Given the description of an element on the screen output the (x, y) to click on. 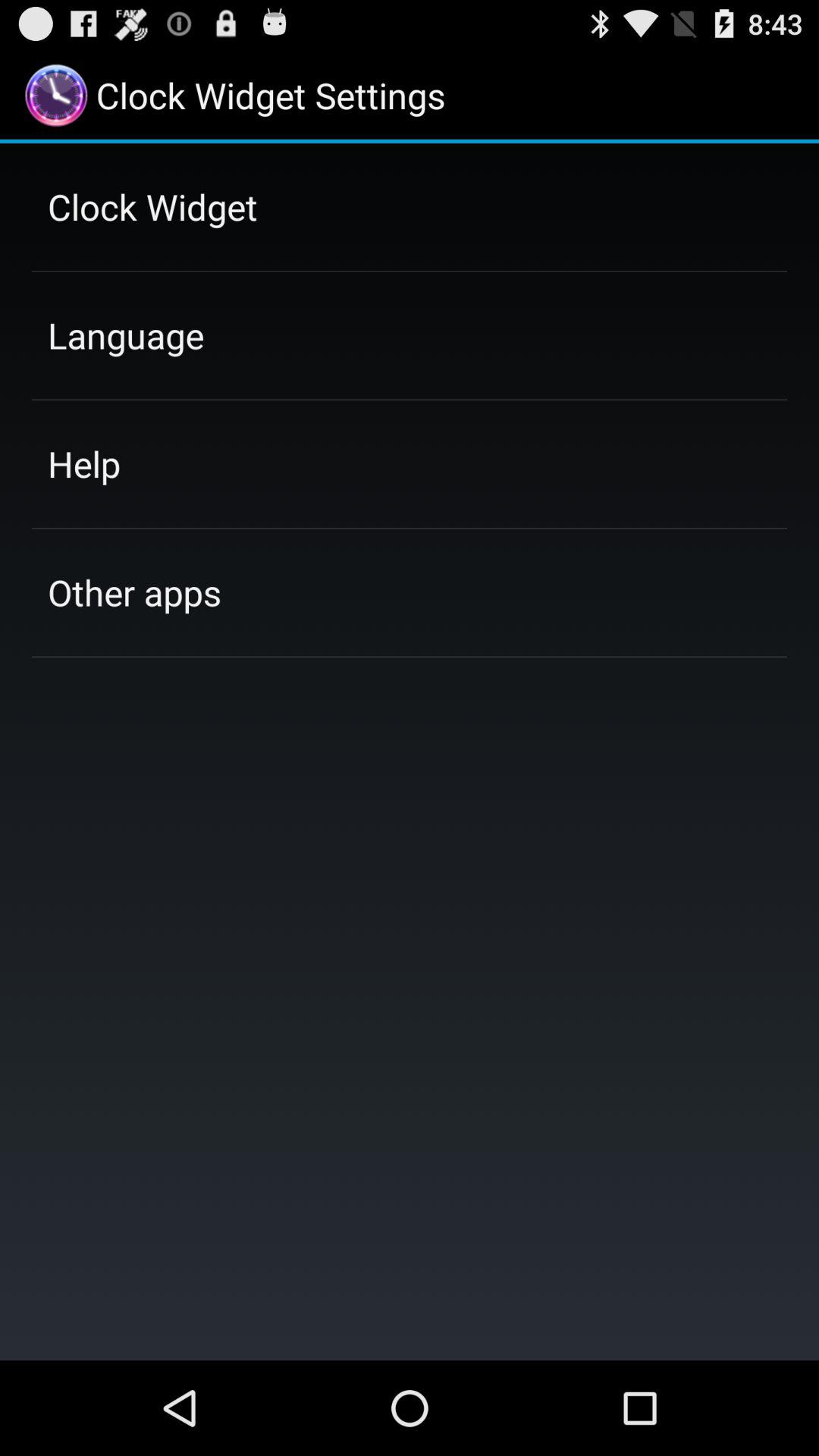
jump to language item (125, 335)
